Given the description of an element on the screen output the (x, y) to click on. 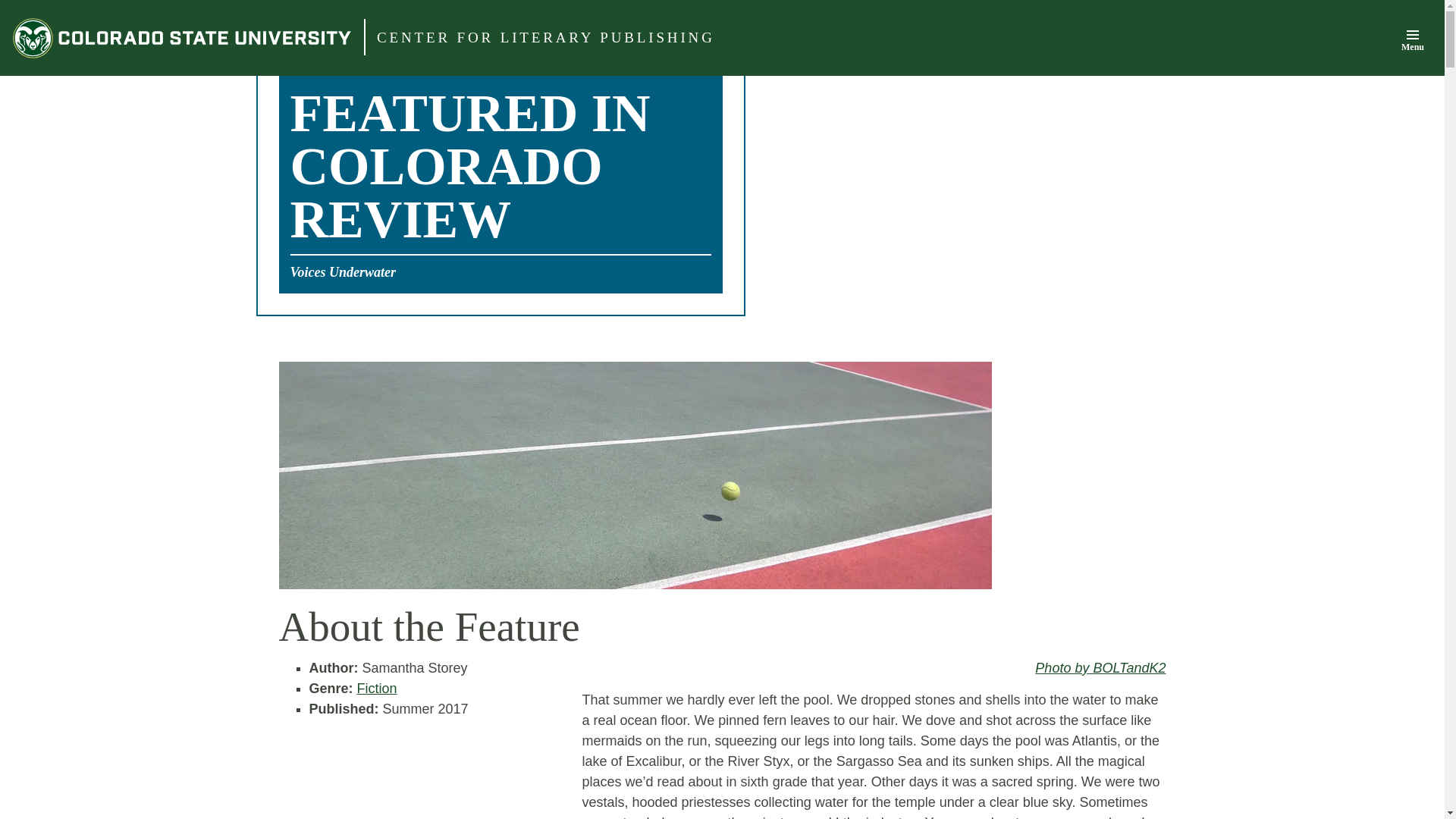
Photo by BOLTandK2 (1100, 667)
Menu (1411, 38)
CENTER FOR LITERARY PUBLISHING (545, 38)
Fiction (376, 688)
